Given the description of an element on the screen output the (x, y) to click on. 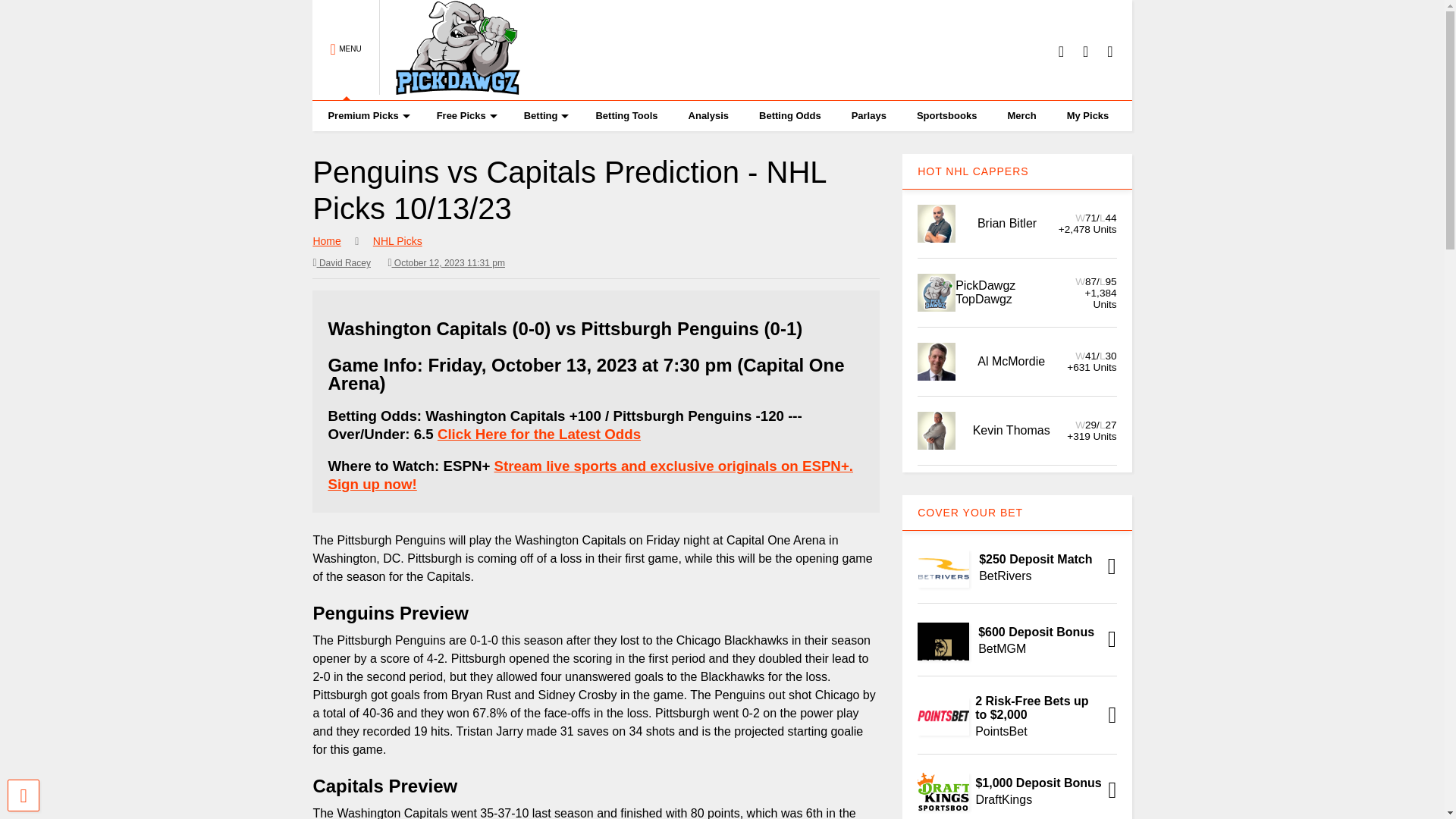
PickDawgz (449, 87)
Betting (544, 115)
facebook (1109, 51)
David Racey (342, 263)
Betting Tools (625, 115)
Analysis (708, 115)
youtube (1061, 51)
Free Picks (465, 115)
Premium Picks (366, 115)
MENU (345, 49)
twitter (1085, 51)
2023-10-12T23:31:43-0400 (446, 263)
